Given the description of an element on the screen output the (x, y) to click on. 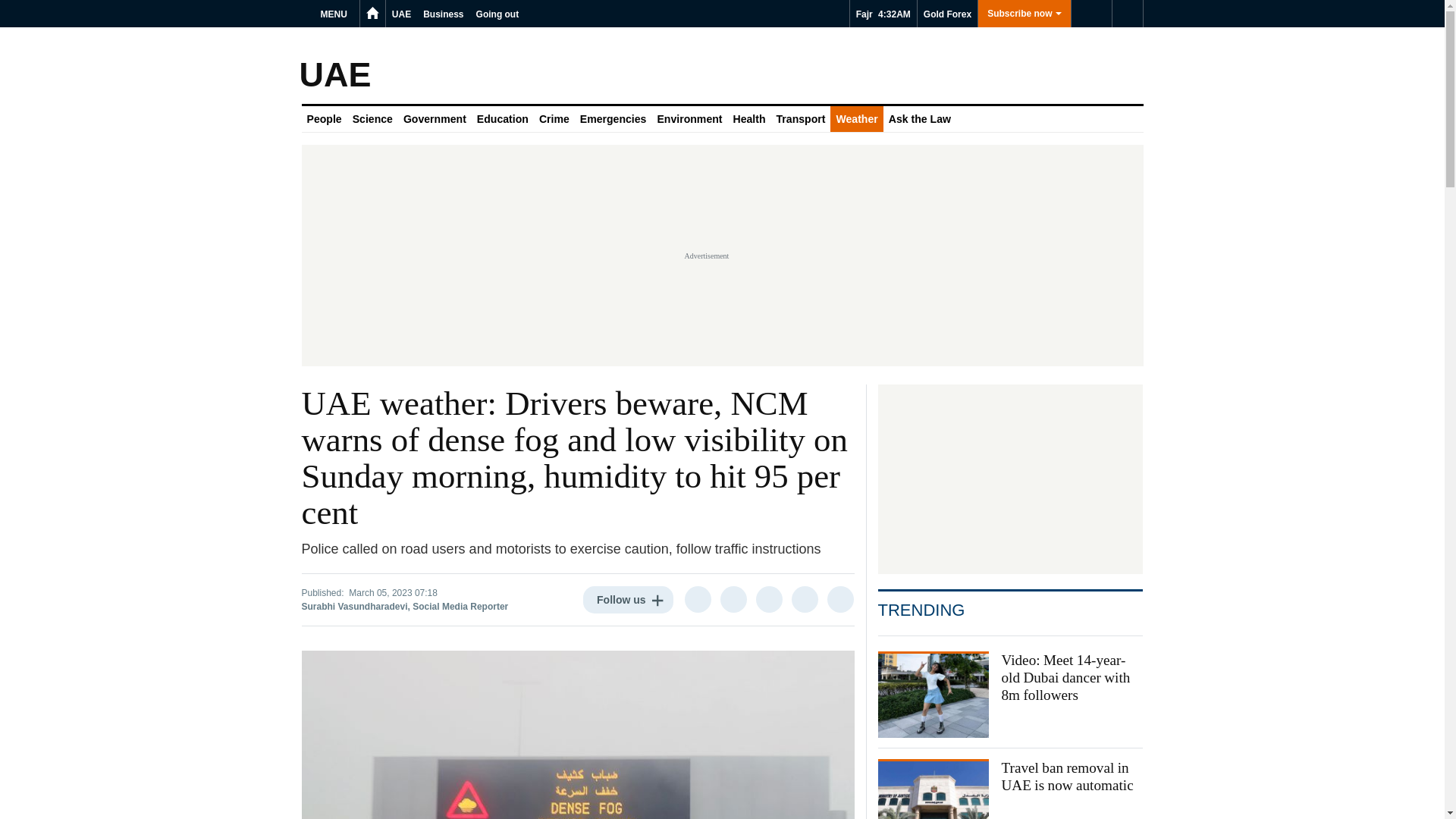
Subscribe now (1024, 13)
MENU (336, 13)
UAE (400, 13)
Going out (497, 13)
Gold Forex (946, 13)
Fajr 4:32AM (883, 13)
Business (442, 13)
